Given the description of an element on the screen output the (x, y) to click on. 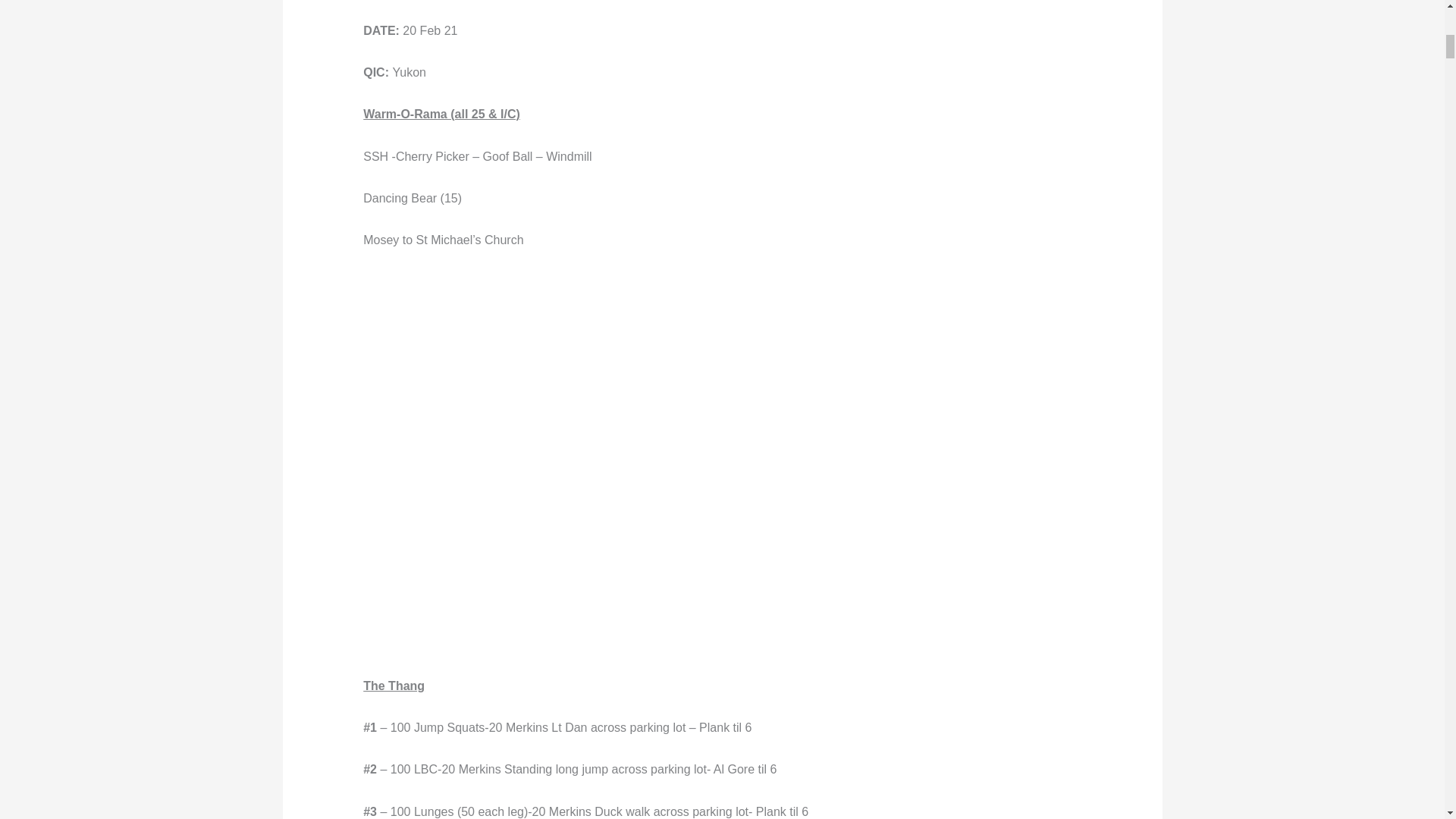
20 Feb (721, 9)
